Given the description of an element on the screen output the (x, y) to click on. 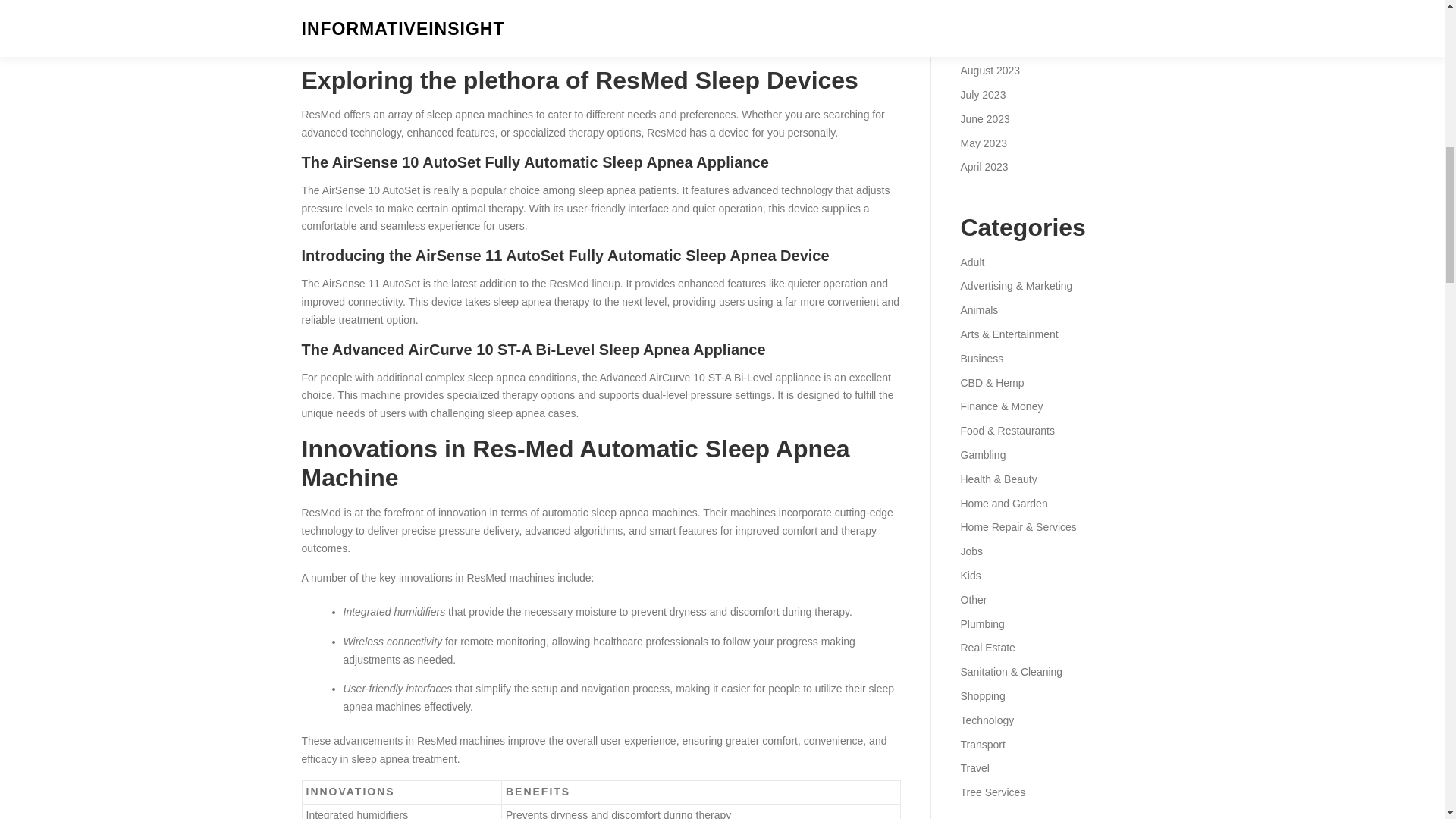
October 2023 (992, 22)
June 2023 (984, 119)
April 2023 (983, 166)
November 2023 (997, 2)
Business (981, 358)
August 2023 (989, 70)
Animals (978, 309)
Adult (971, 262)
July 2023 (982, 94)
September 2023 (999, 46)
May 2023 (982, 143)
